Given the description of an element on the screen output the (x, y) to click on. 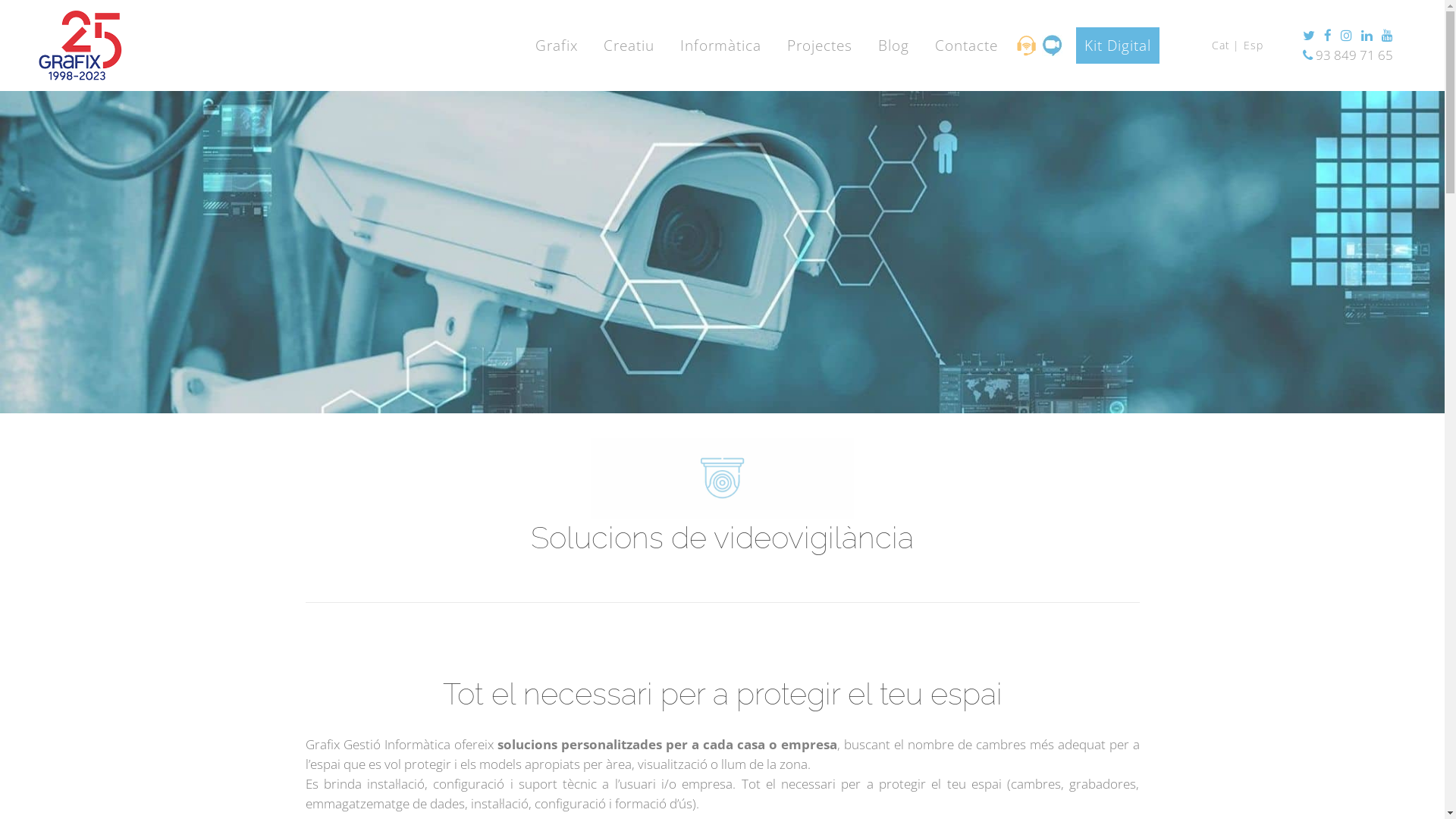
Grafix Element type: text (556, 45)
video-1 Element type: hover (721, 477)
93 849 71 65 Element type: text (1352, 54)
Creatiu Element type: text (628, 45)
Esp Element type: text (1254, 45)
Contacte Element type: text (966, 45)
Kit Digital Element type: text (1130, 45)
Subscriu-te Element type: text (29, 7)
Projectes Element type: text (819, 45)
Cat Element type: text (1220, 45)
Blog Element type: text (893, 45)
Envia Element type: text (1331, 489)
